Given the description of an element on the screen output the (x, y) to click on. 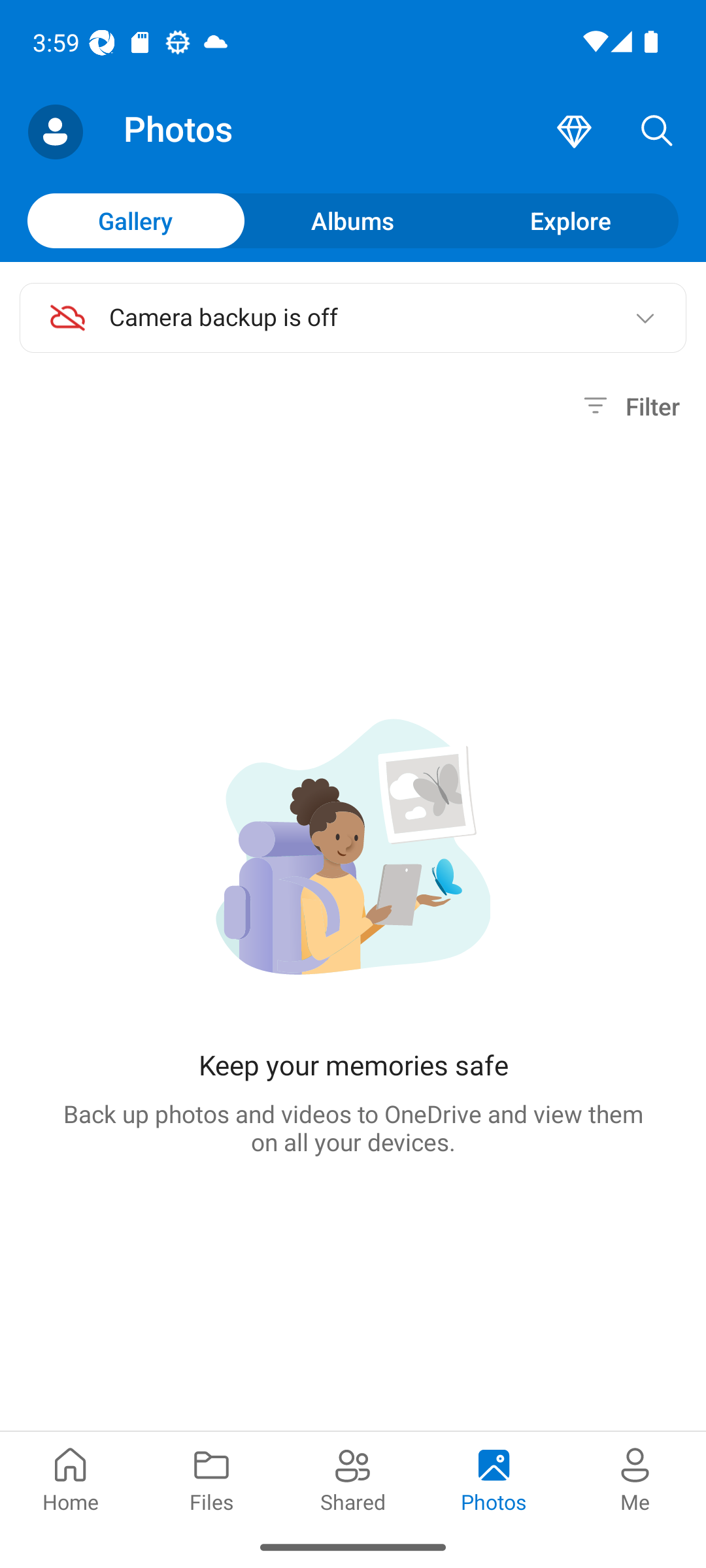
Account switcher (55, 131)
Premium button (574, 131)
Search button (656, 131)
Albums (352, 219)
Explore (569, 219)
Expand camera status banner (645, 318)
Filter (628, 405)
Home pivot Home (70, 1478)
Files pivot Files (211, 1478)
Shared pivot Shared (352, 1478)
Me pivot Me (635, 1478)
